Given the description of an element on the screen output the (x, y) to click on. 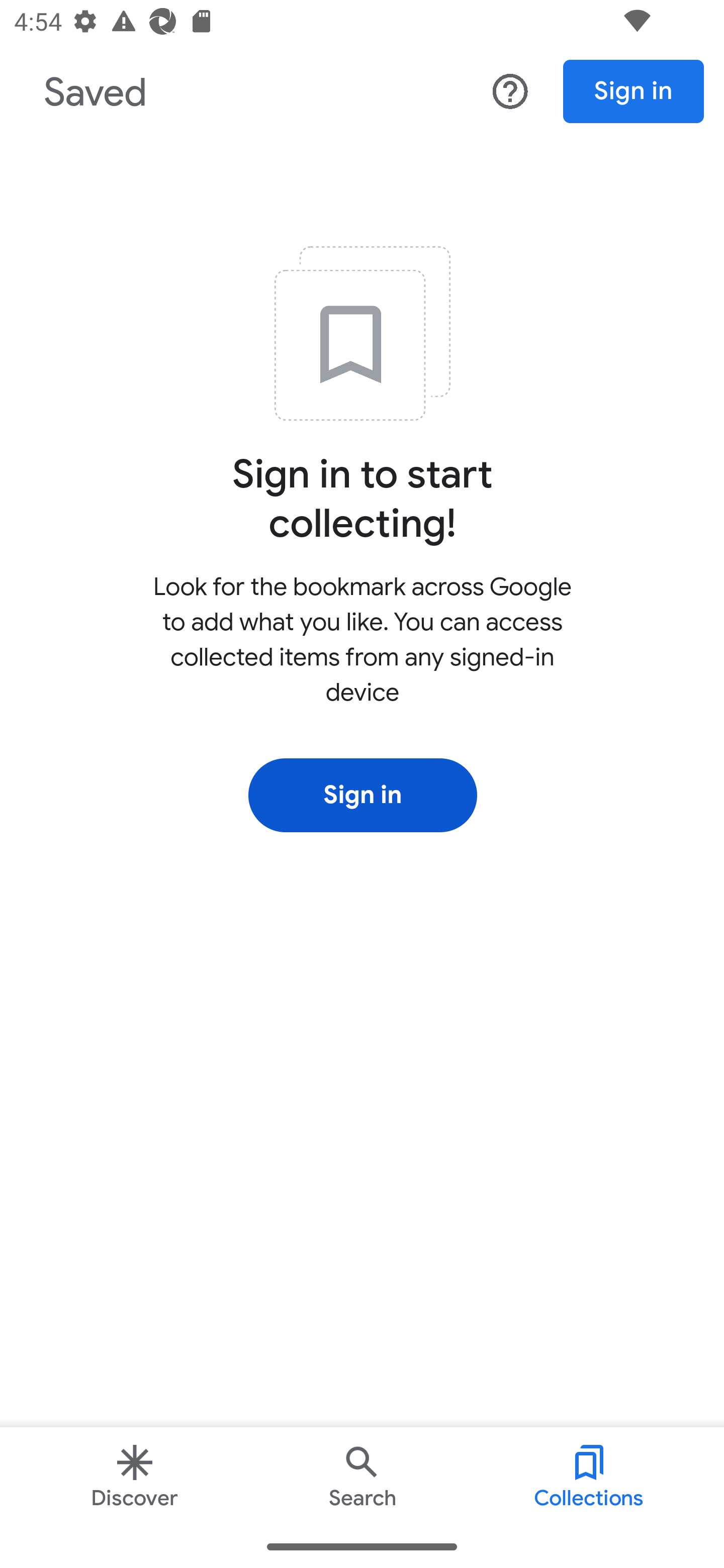
More options (509, 92)
Sign in (634, 91)
Saved (91, 94)
Sign in (362, 794)
Discover (134, 1475)
Search (361, 1475)
Collections (589, 1475)
